Given the description of an element on the screen output the (x, y) to click on. 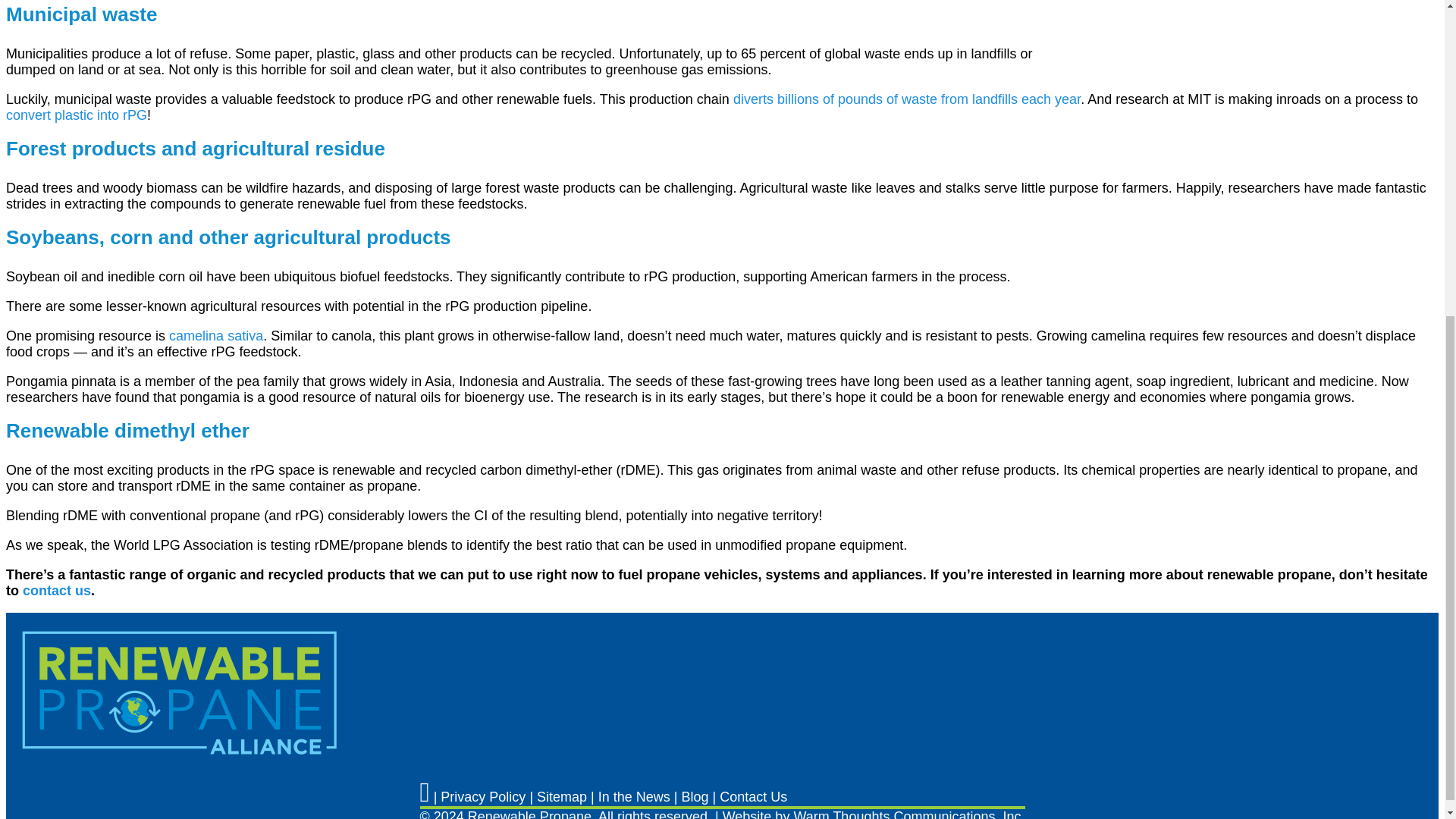
Sitemap (561, 796)
In the News (633, 796)
contact (56, 590)
Contact Us (753, 796)
camelina sativa (215, 335)
Privacy Policy (483, 796)
convert plastic into rPG (76, 114)
contact us (56, 590)
green innovation (76, 114)
read more (906, 99)
diverts billions of pounds of waste from landfills each year (906, 99)
camelina sativa (215, 335)
Blog (695, 796)
logo (180, 693)
